Given the description of an element on the screen output the (x, y) to click on. 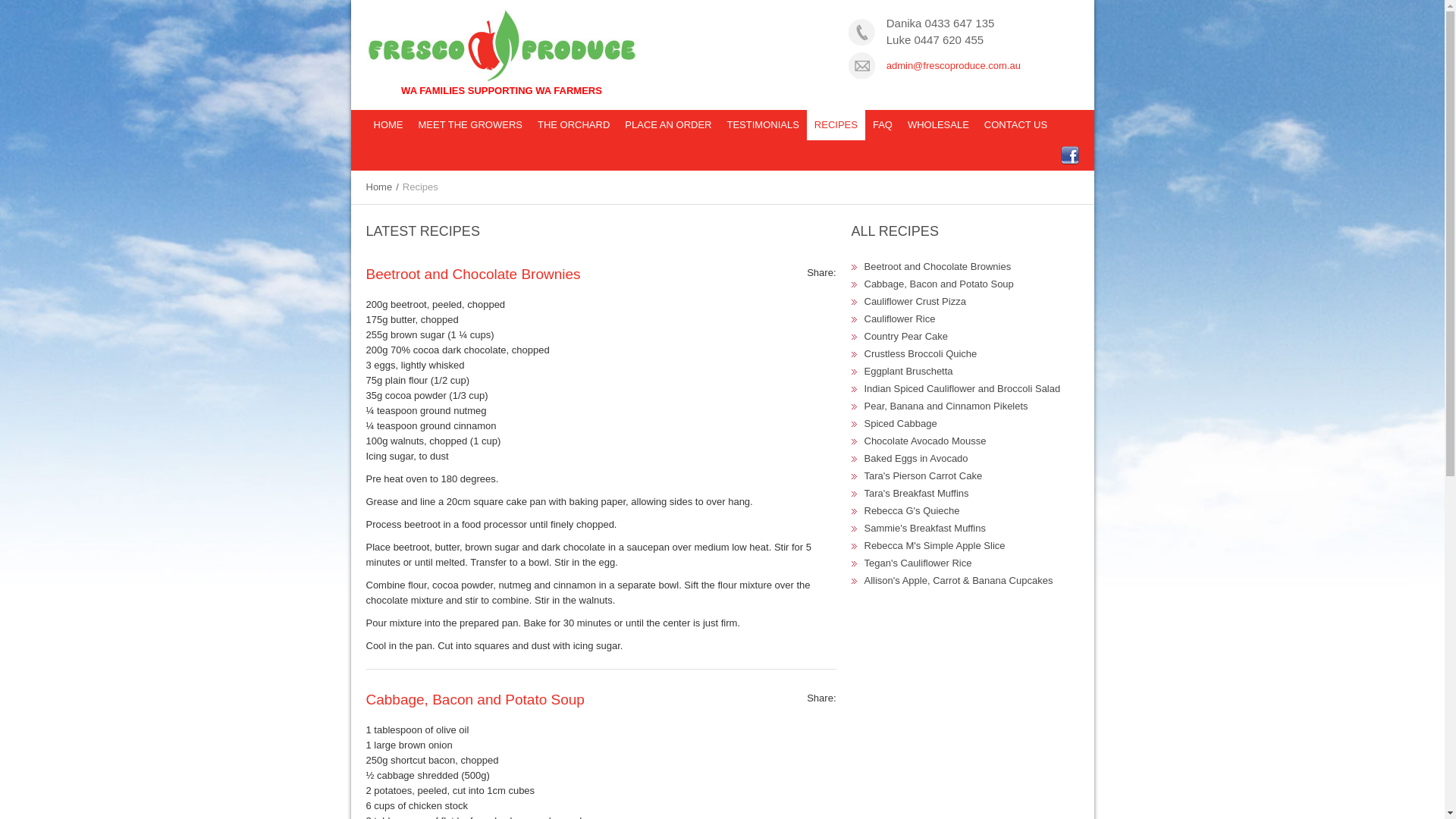
Sammie's Breakfast Muffins Element type: text (924, 527)
admin@frescoproduce.com.au Element type: text (953, 65)
HOME Element type: text (387, 124)
THE ORCHARD Element type: text (573, 124)
View our Facebook group Element type: hover (1068, 155)
Cauliflower Crust Pizza Element type: text (915, 301)
Beetroot and Chocolate Brownies Element type: text (472, 274)
Spiced Cabbage Element type: text (900, 423)
CONTACT US Element type: text (1015, 124)
Rebecca G's Quieche Element type: text (912, 510)
Rebecca M's Simple Apple Slice Element type: text (934, 545)
MEET THE GROWERS Element type: text (470, 124)
TESTIMONIALS Element type: text (762, 124)
Tegan's Cauliflower Rice Element type: text (918, 562)
Baked Eggs in Avocado Element type: text (916, 458)
PLACE AN ORDER Element type: text (667, 124)
Indian Spiced Cauliflower and Broccoli Salad Element type: text (962, 388)
RECIPES Element type: text (835, 124)
Eggplant Bruschetta Element type: text (908, 370)
WHOLESALE Element type: text (938, 124)
Country Pear Cake Element type: text (906, 336)
Cauliflower Rice Element type: text (899, 318)
Pear, Banana and Cinnamon Pikelets Element type: text (946, 405)
Tara's Pierson Carrot Cake Element type: text (923, 475)
Beetroot and Chocolate Brownies Element type: text (937, 266)
Crustless Broccoli Quiche Element type: text (920, 353)
Home Element type: text (371, 186)
Chocolate Avocado Mousse Element type: text (925, 440)
FAQ Element type: text (882, 124)
Cabbage, Bacon and Potato Soup Element type: text (474, 699)
Allison's Apple, Carrot & Banana Cupcakes Element type: text (958, 580)
Cabbage, Bacon and Potato Soup Element type: text (938, 283)
Tara's Breakfast Muffins Element type: text (916, 492)
